Given the description of an element on the screen output the (x, y) to click on. 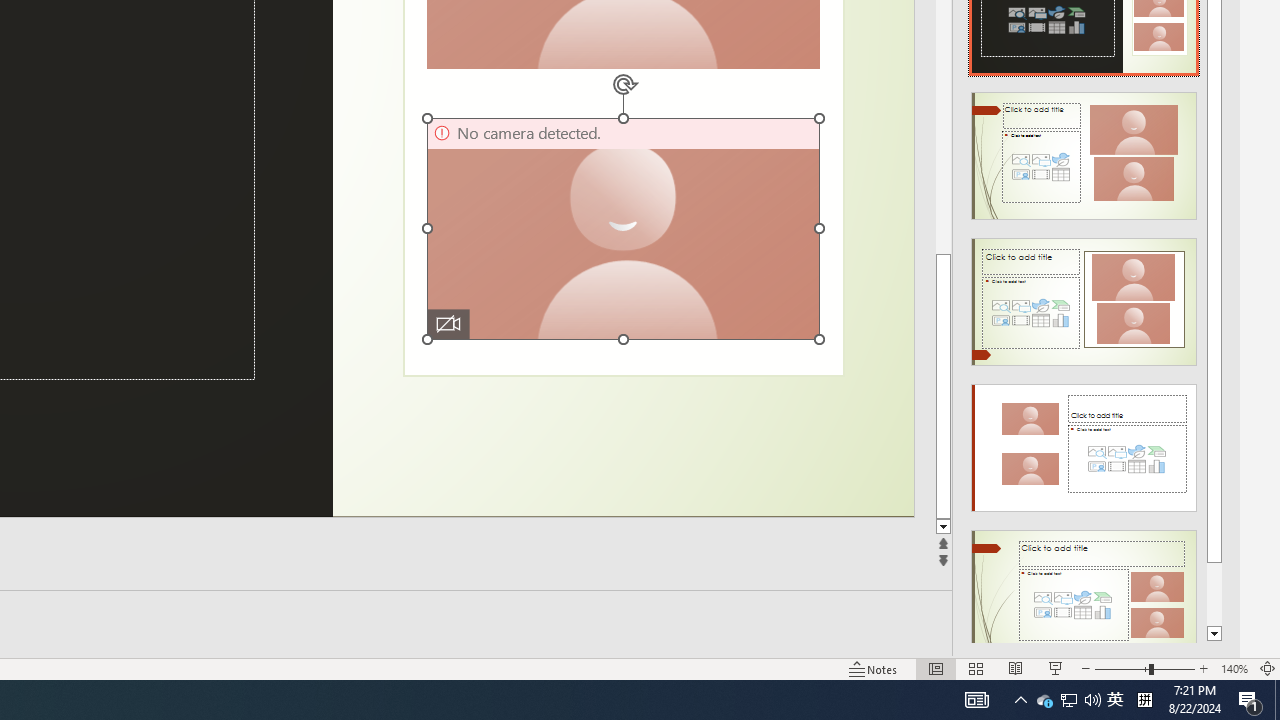
Camera 4, No camera detected. (622, 228)
Zoom 140% (1234, 668)
Design Idea (1083, 587)
Page down (1213, 594)
Class: NetUIImage (1083, 593)
Line down (943, 527)
Notes  (874, 668)
